Given the description of an element on the screen output the (x, y) to click on. 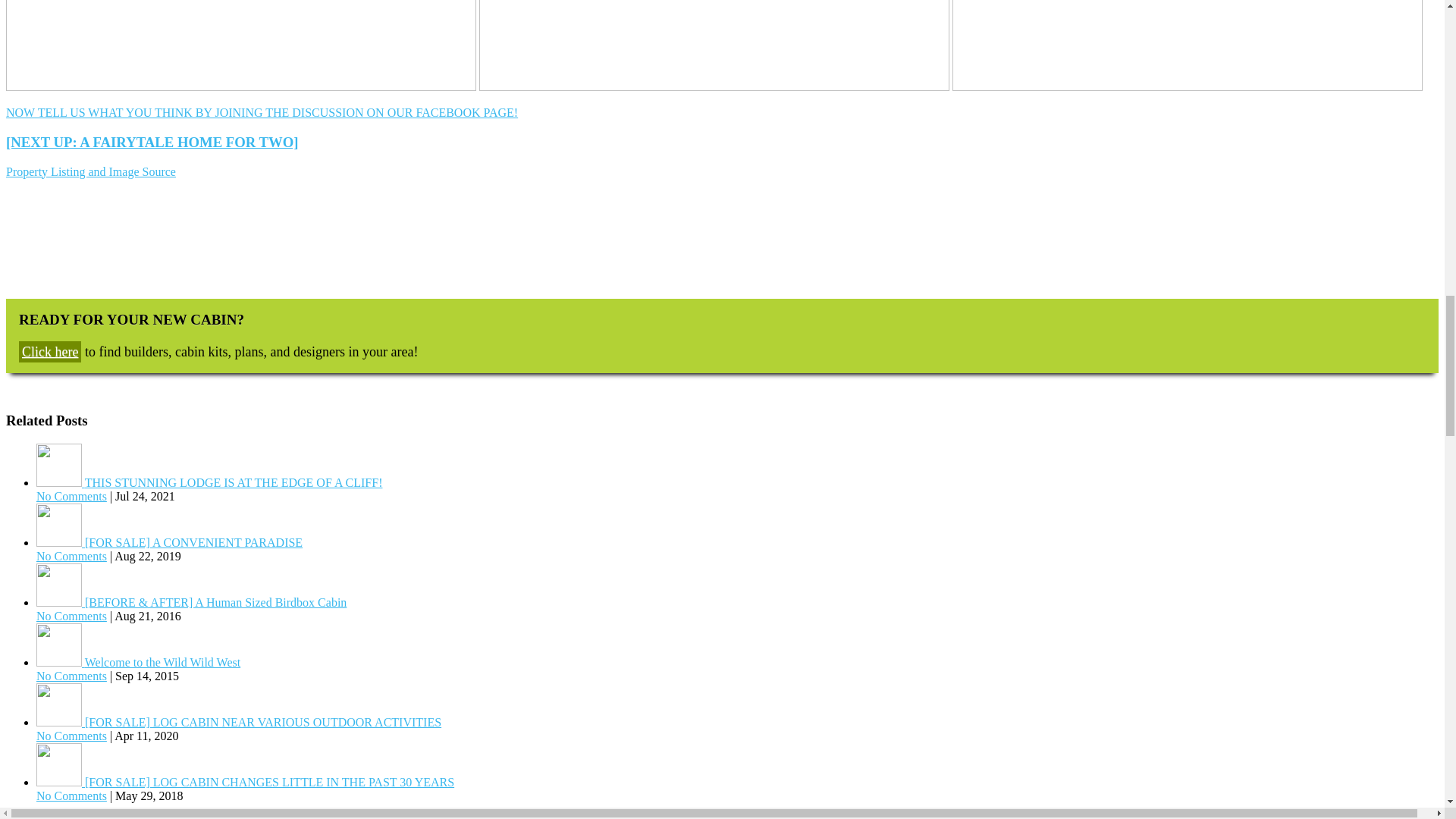
Welcome to the Wild Wild West (138, 662)
No Comments (71, 795)
Click here (49, 351)
No Comments (71, 675)
No Comments (71, 735)
THIS STUNNING LODGE IS AT THE EDGE OF A CLIFF! (208, 481)
Property Listing and Image Source (90, 171)
No Comments (71, 495)
No Comments (71, 555)
No Comments (71, 615)
